Given the description of an element on the screen output the (x, y) to click on. 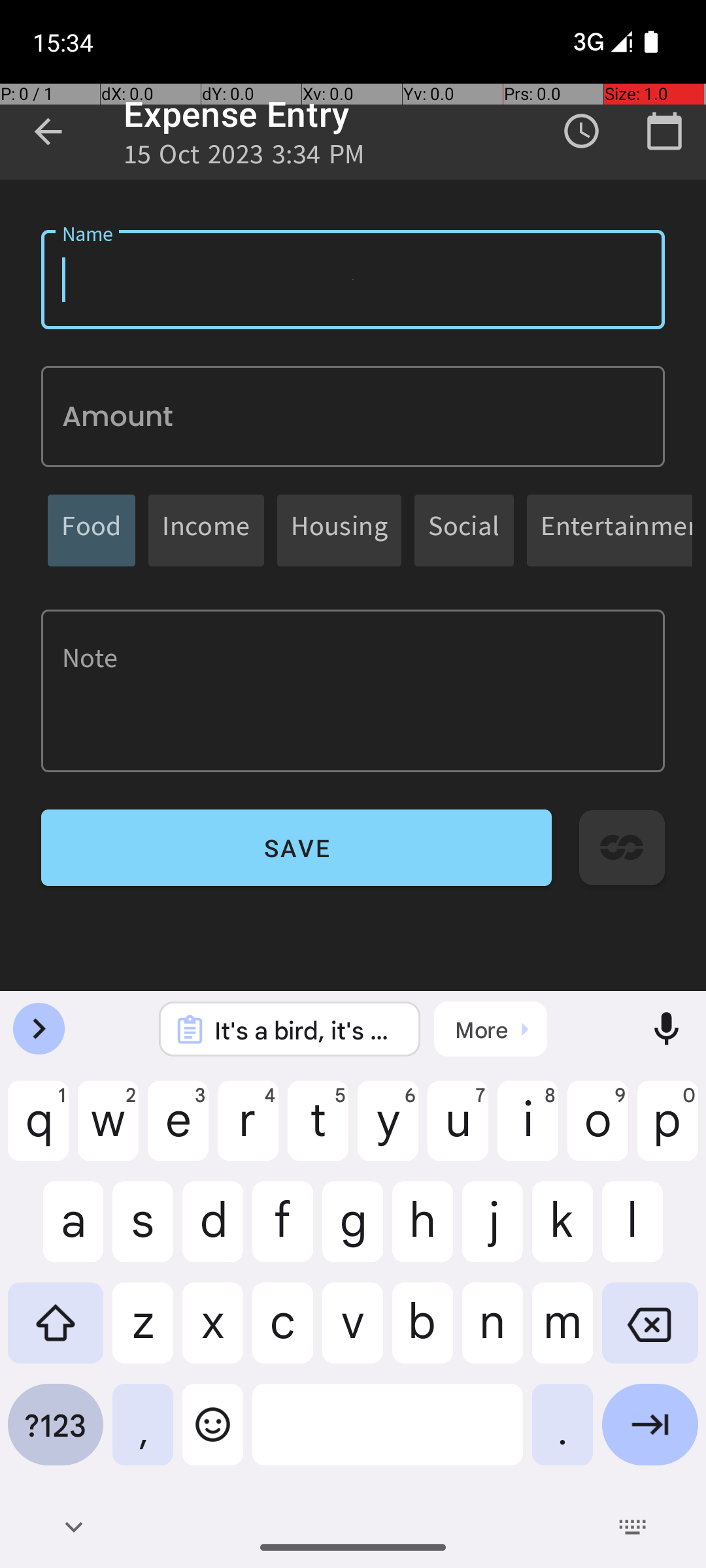
Expense Entry Element type: android.widget.TextView (236, 113)
15 Oct 2023 3:34 PM Element type: android.widget.TextView (244, 157)
Time Element type: android.widget.TextView (580, 131)
Name Element type: android.widget.EditText (352, 279)
SAVE Element type: android.widget.Button (296, 847)
Food Element type: android.widget.TextView (91, 530)
Income Element type: android.widget.TextView (206, 530)
Housing Element type: android.widget.TextView (338, 530)
Social Element type: android.widget.TextView (464, 530)
Entertainment Element type: android.widget.TextView (616, 530)
Open features menu Element type: android.widget.FrameLayout (39, 1028)
q Element type: android.widget.FrameLayout (38, 1130)
w Element type: android.widget.FrameLayout (108, 1130)
e Element type: android.widget.FrameLayout (178, 1130)
r Element type: android.widget.FrameLayout (248, 1130)
t Element type: android.widget.FrameLayout (318, 1130)
y Element type: android.widget.FrameLayout (387, 1130)
u Element type: android.widget.FrameLayout (457, 1130)
i Element type: android.widget.FrameLayout (527, 1130)
o Element type: android.widget.FrameLayout (597, 1130)
p Element type: android.widget.FrameLayout (667, 1130)
a Element type: android.widget.FrameLayout (55, 1231)
s Element type: android.widget.FrameLayout (142, 1231)
d Element type: android.widget.FrameLayout (212, 1231)
f Element type: android.widget.FrameLayout (282, 1231)
g Element type: android.widget.FrameLayout (352, 1231)
h Element type: android.widget.FrameLayout (422, 1231)
j Element type: android.widget.FrameLayout (492, 1231)
k Element type: android.widget.FrameLayout (562, 1231)
l Element type: android.widget.FrameLayout (649, 1231)
z Element type: android.widget.FrameLayout (142, 1332)
x Element type: android.widget.FrameLayout (212, 1332)
c Element type: android.widget.FrameLayout (282, 1332)
v Element type: android.widget.FrameLayout (352, 1332)
b Element type: android.widget.FrameLayout (422, 1332)
n Element type: android.widget.FrameLayout (492, 1332)
m Element type: android.widget.FrameLayout (562, 1332)
Next Element type: android.widget.FrameLayout (649, 1434)
Click to open Clipboard Element type: android.view.ViewGroup (490, 1028)
It's a bird, it's a plane. Element type: android.widget.TextView (306, 1029)
